Given the description of an element on the screen output the (x, y) to click on. 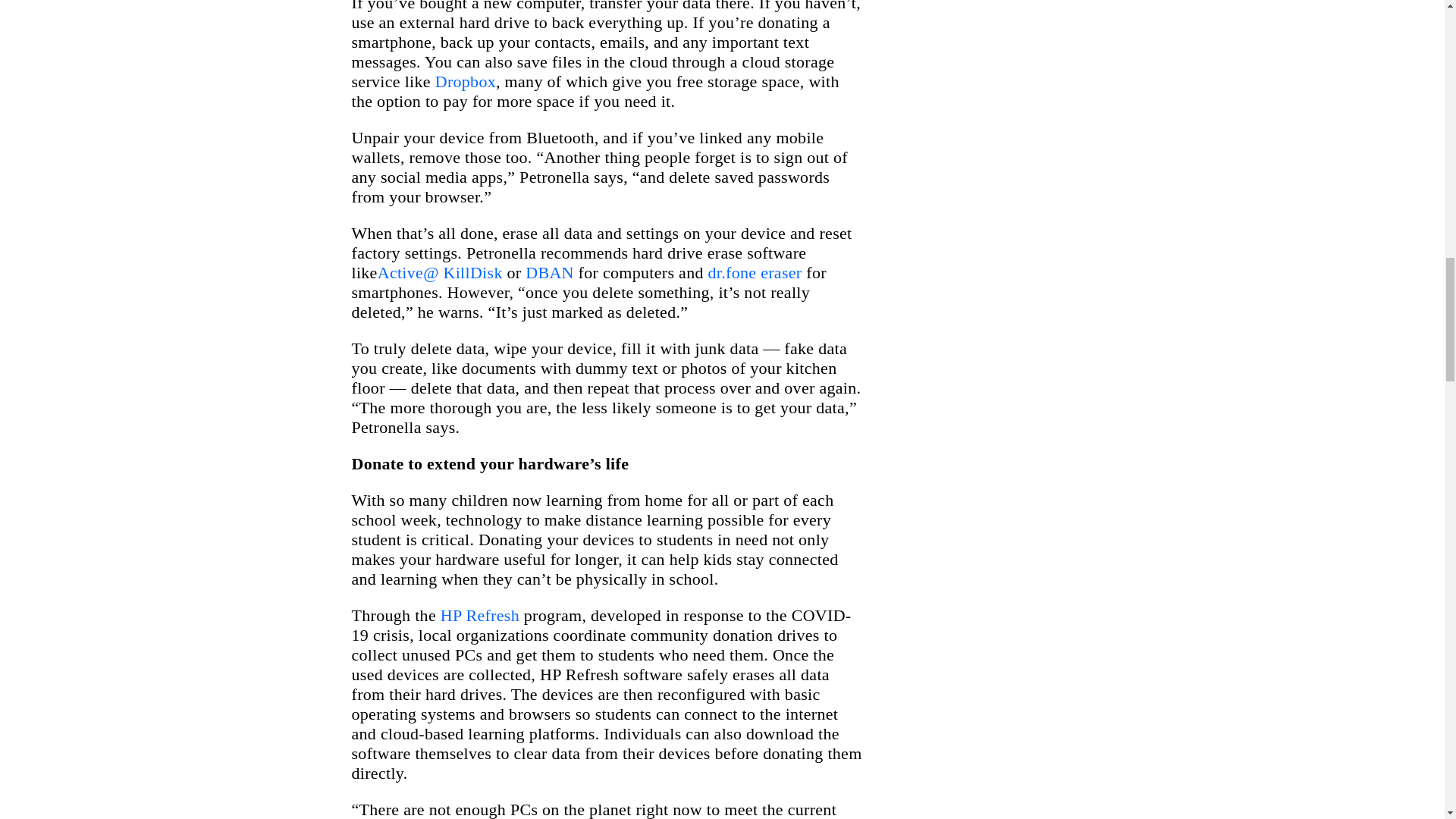
Dropbox (465, 81)
DBAN (549, 271)
dr.fone eraser (754, 271)
HP Refresh (480, 615)
